Given the description of an element on the screen output the (x, y) to click on. 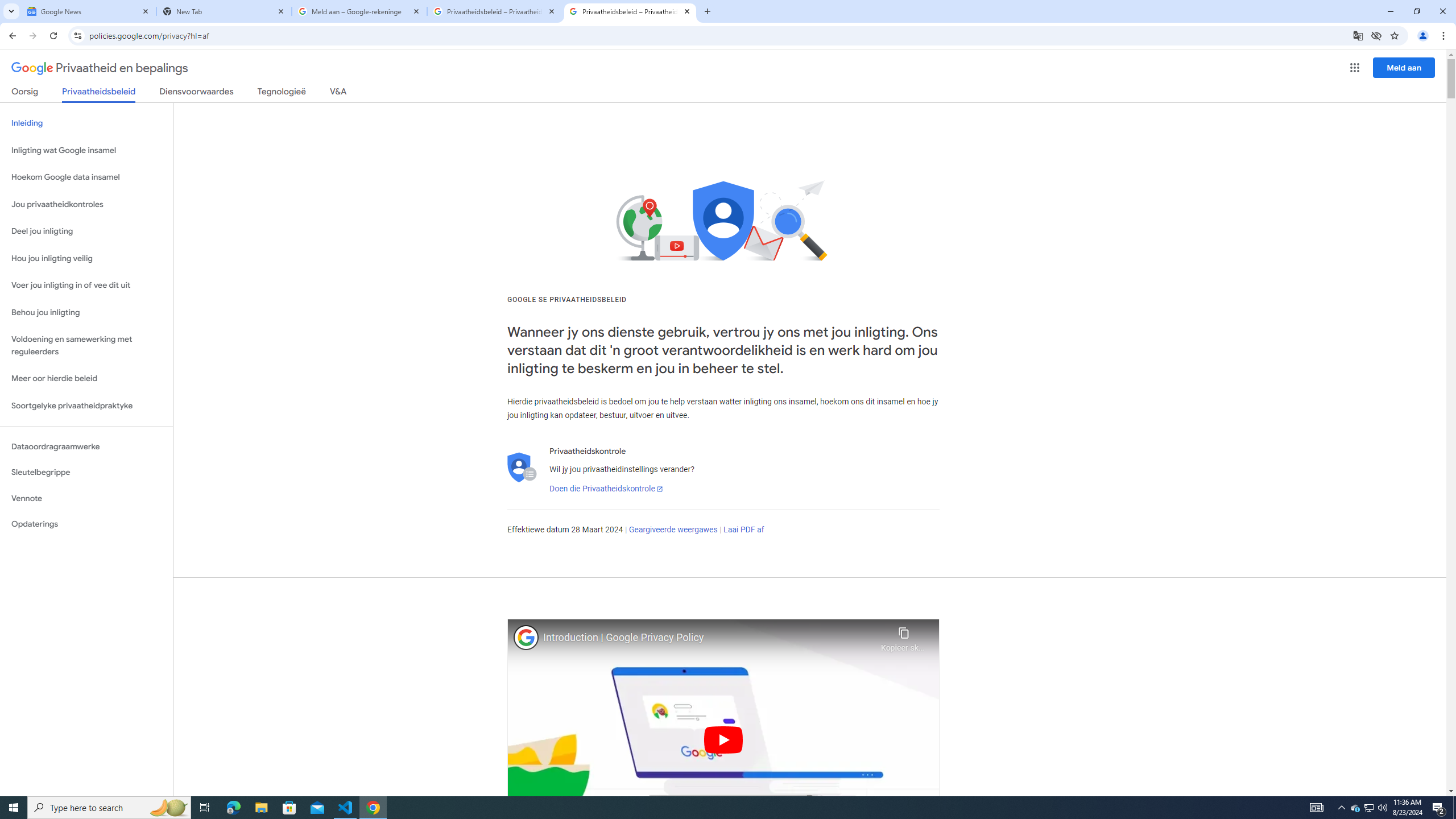
Inligting wat Google insamel (86, 150)
New Tab (706, 11)
Restore (1416, 11)
Google News (88, 11)
Sleutelbegrippe (86, 472)
Deel jou inligting (86, 230)
Back (10, 35)
Speel (723, 739)
Doen die Privaatheidskontrole (605, 488)
Meer oor hierdie beleid (86, 379)
Inleiding (86, 122)
New Tab (224, 11)
Fotobeeld van Google (526, 636)
Translate this page (1358, 35)
Bookmark this tab (1393, 35)
